Given the description of an element on the screen output the (x, y) to click on. 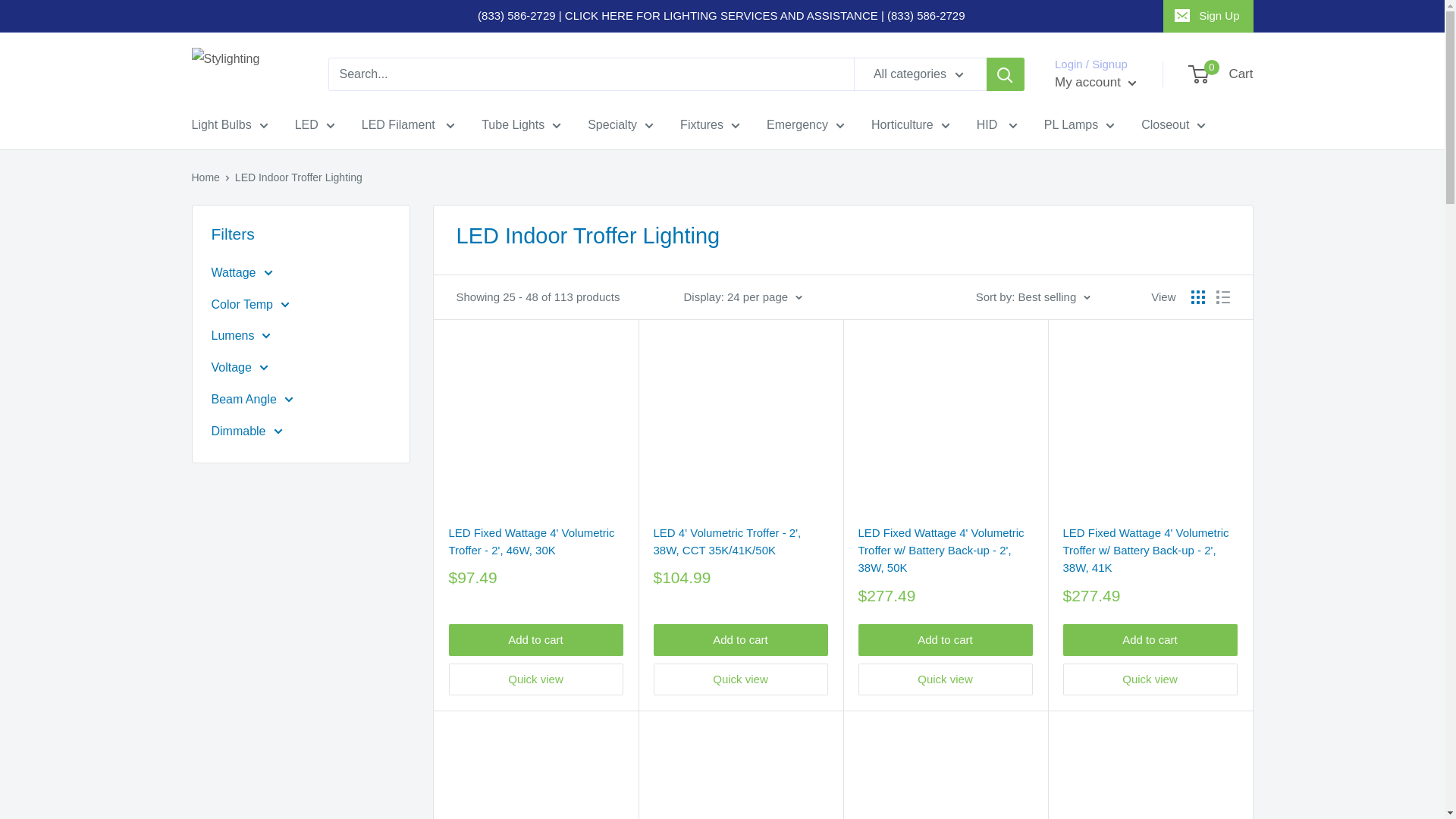
Sign Up (1207, 15)
